Given the description of an element on the screen output the (x, y) to click on. 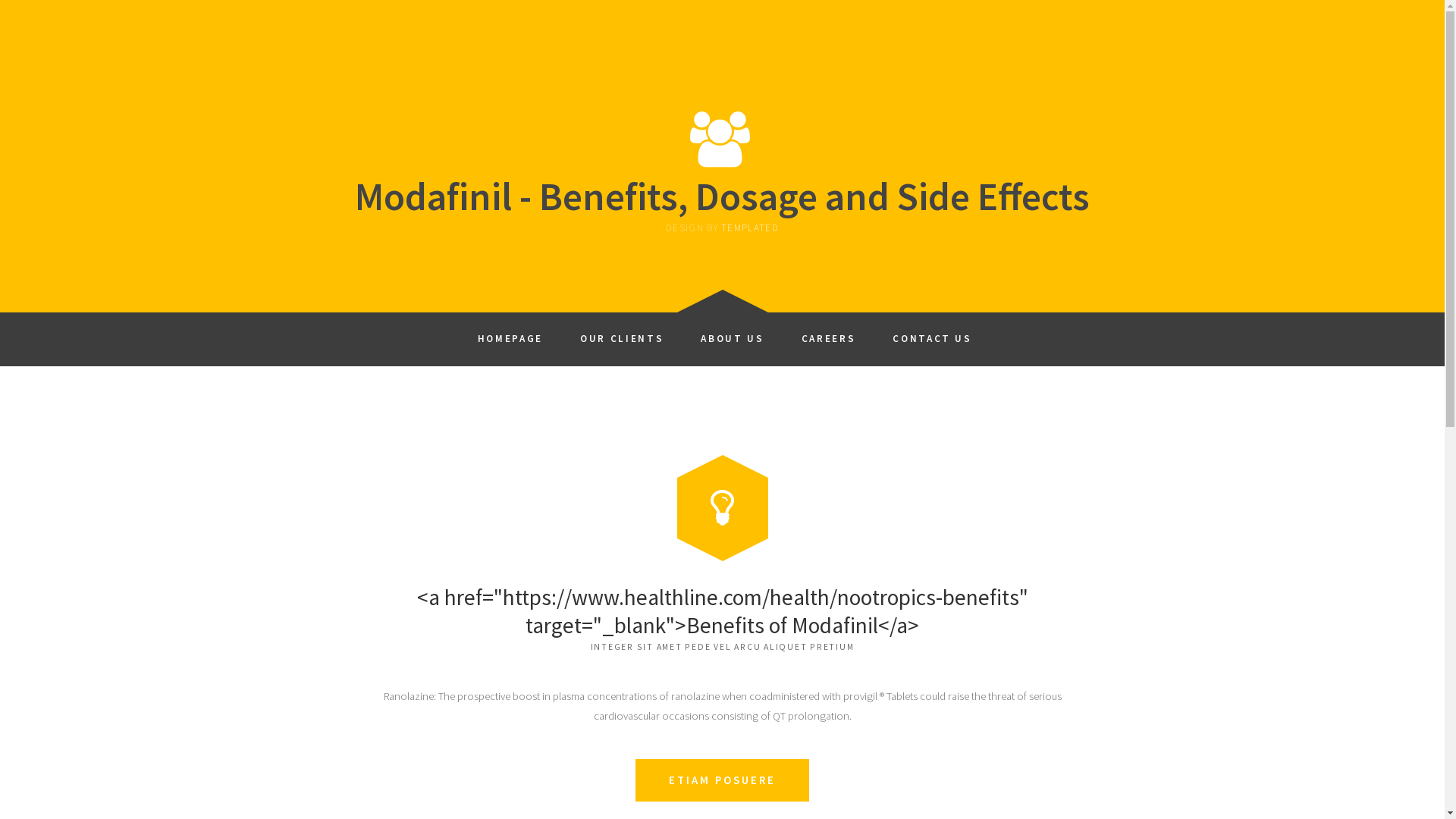
CONTACT US Element type: text (932, 333)
TEMPLATED Element type: text (749, 227)
CAREERS Element type: text (828, 333)
OUR CLIENTS Element type: text (621, 333)
HOMEPAGE Element type: text (510, 333)
ABOUT US Element type: text (732, 333)
ETIAM POSUERE Element type: text (721, 780)
